Given the description of an element on the screen output the (x, y) to click on. 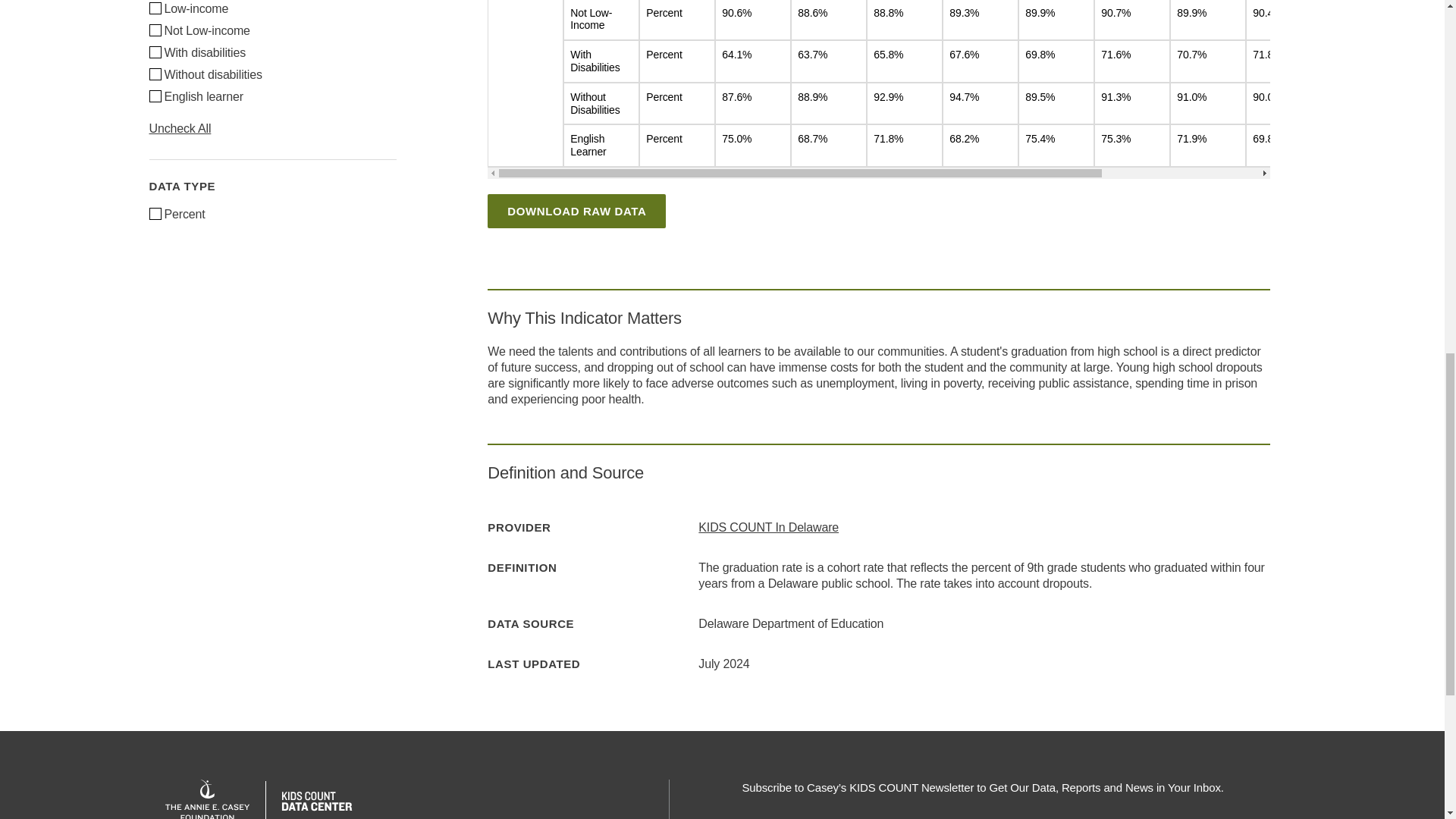
487 (154, 7)
21607 (154, 214)
490 (154, 73)
488 (154, 30)
489 (154, 51)
7987 (154, 95)
